Given the description of an element on the screen output the (x, y) to click on. 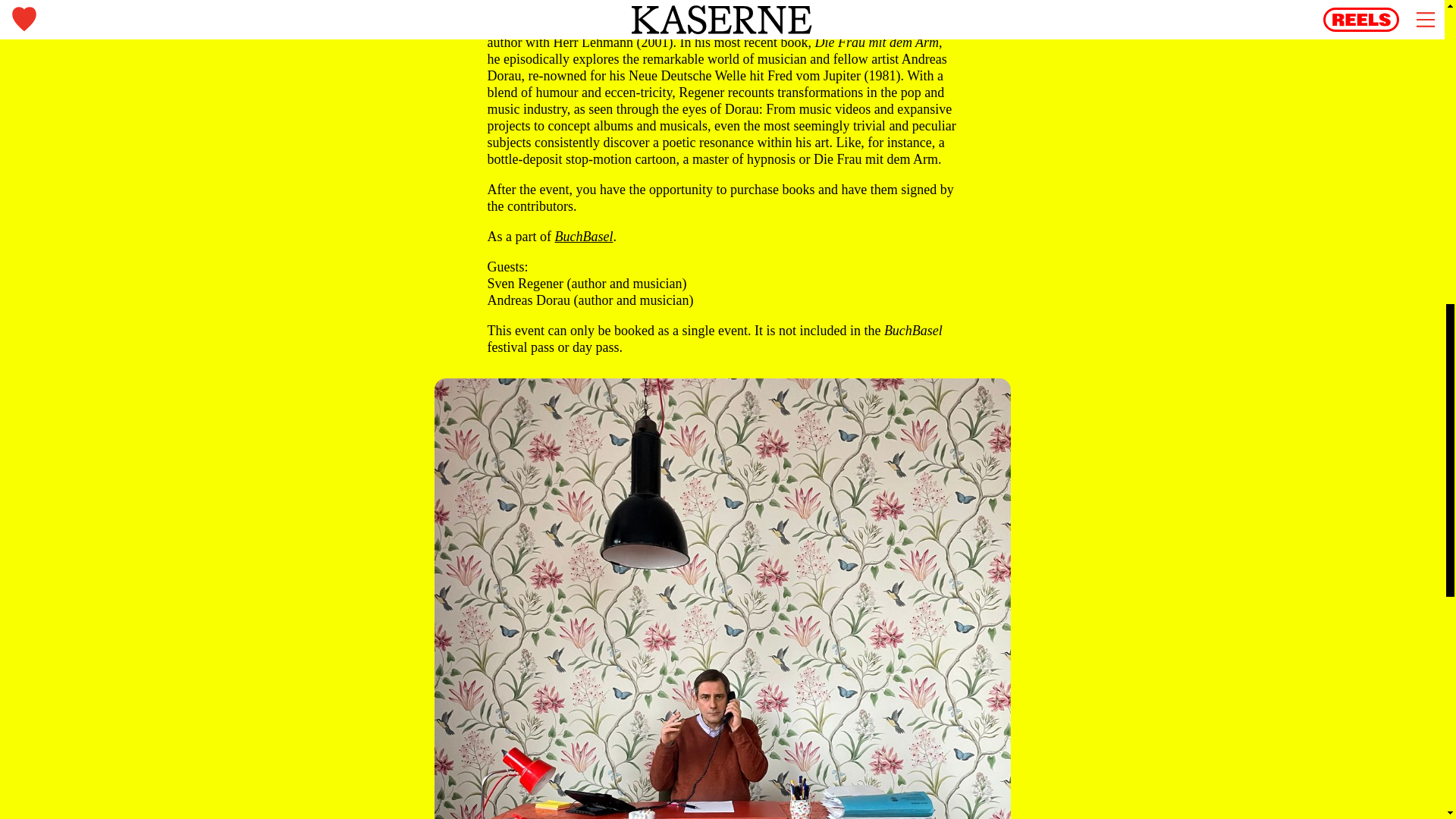
BuchBasel (583, 236)
